Given the description of an element on the screen output the (x, y) to click on. 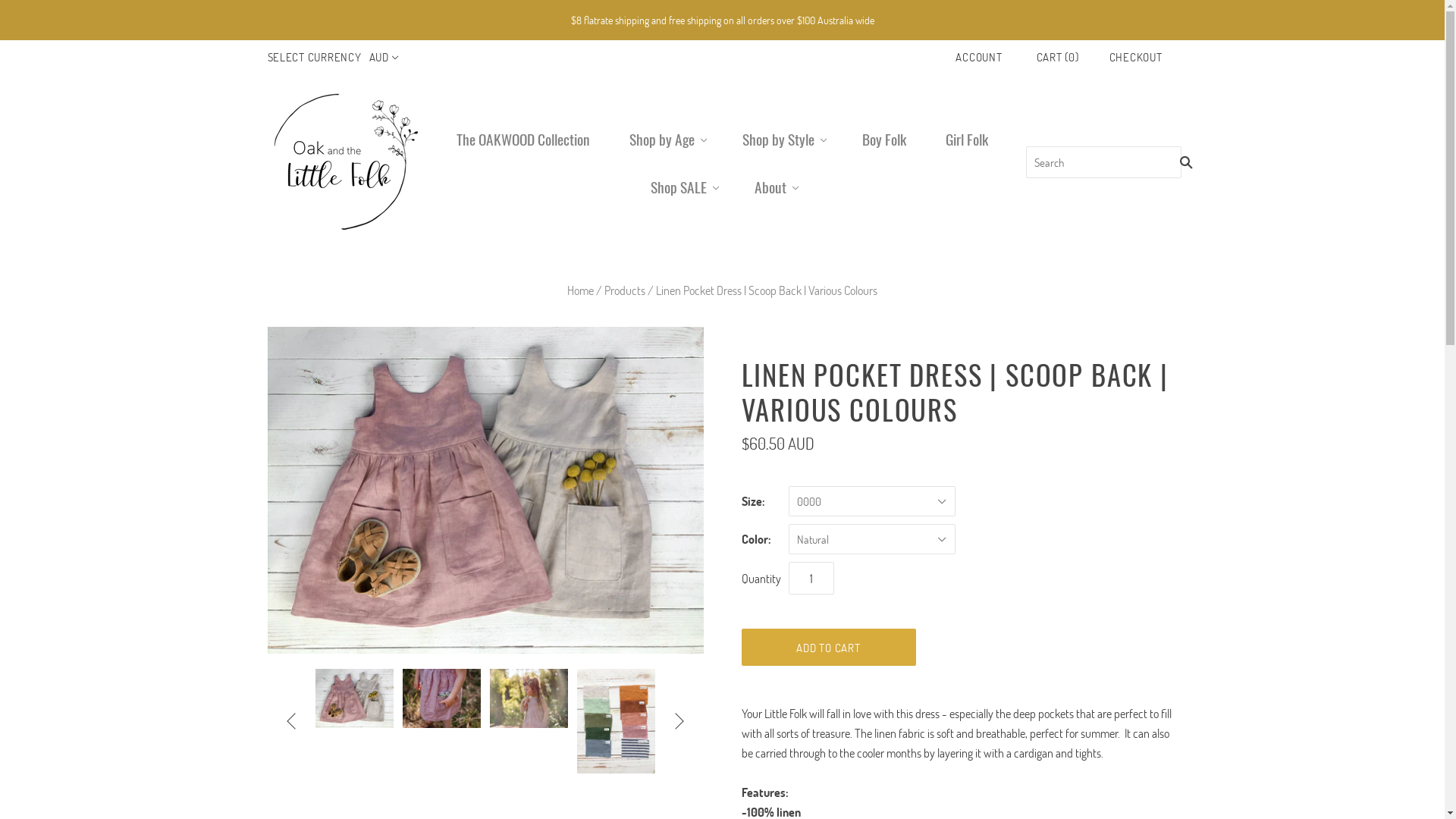
Home Element type: text (580, 290)
Boy Folk Element type: text (883, 139)
CART (0) Element type: text (1057, 56)
Products Element type: text (624, 290)
Girl Folk Element type: text (966, 139)
Add to cart Element type: text (828, 646)
Shop SALE Element type: text (682, 186)
CHECKOUT Element type: text (1135, 56)
About Element type: text (773, 186)
The OAKWOOD Collection Element type: text (522, 139)
Shop by Style Element type: text (782, 139)
ACCOUNT Element type: text (978, 56)
Shop by Age Element type: text (665, 139)
